Given the description of an element on the screen output the (x, y) to click on. 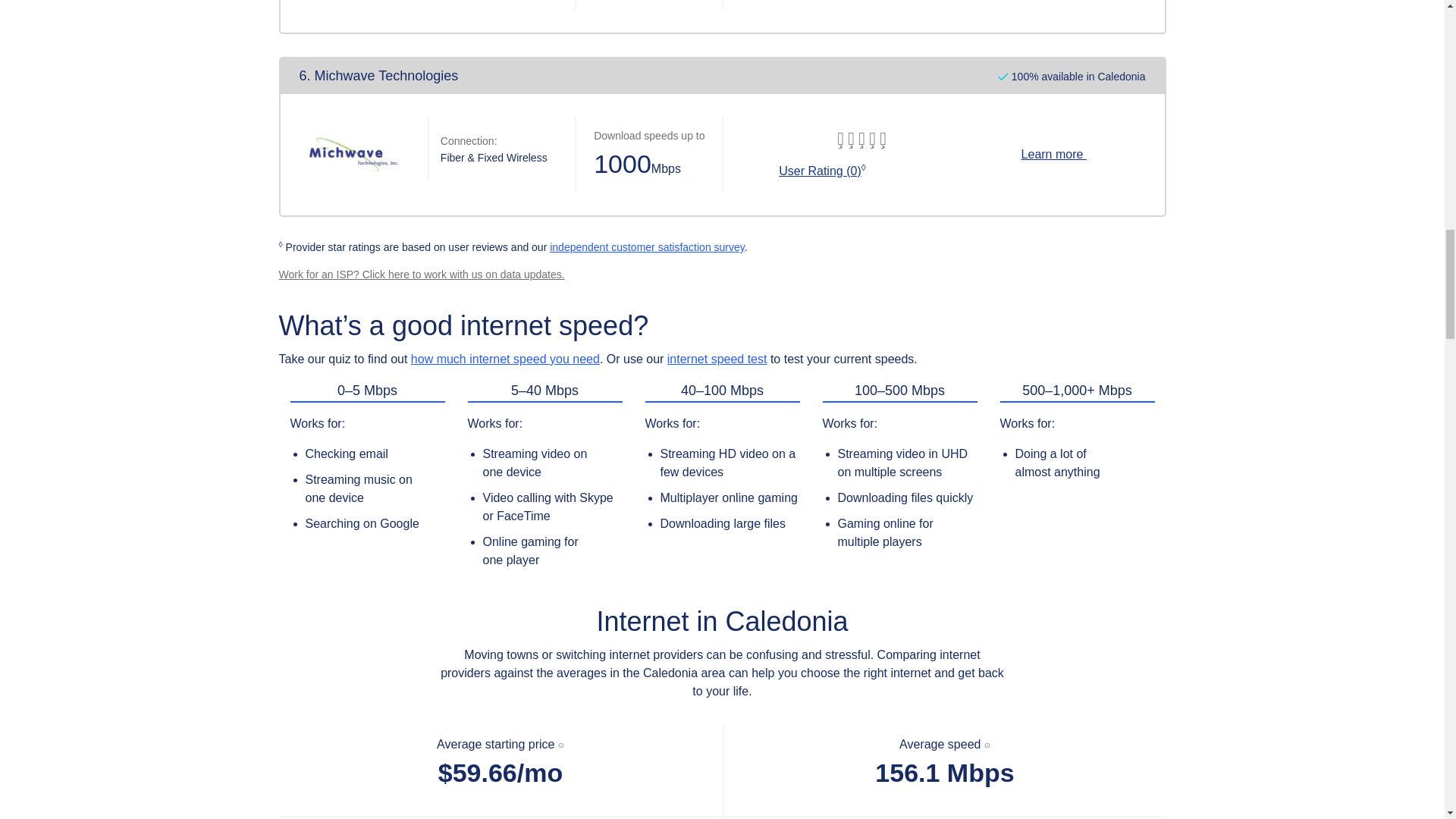
Learn more  (1054, 154)
